Given the description of an element on the screen output the (x, y) to click on. 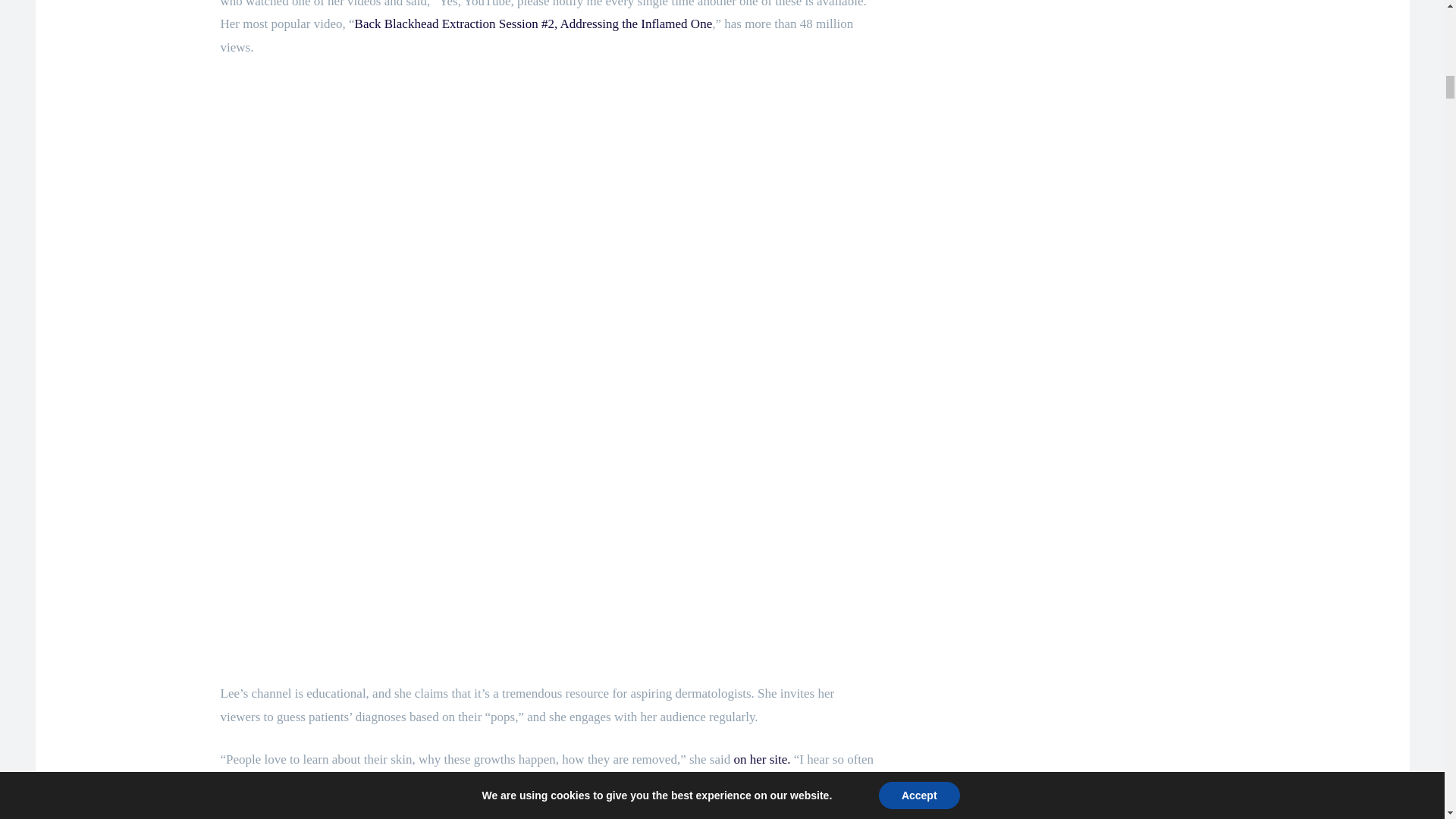
on her site. (761, 759)
